Given the description of an element on the screen output the (x, y) to click on. 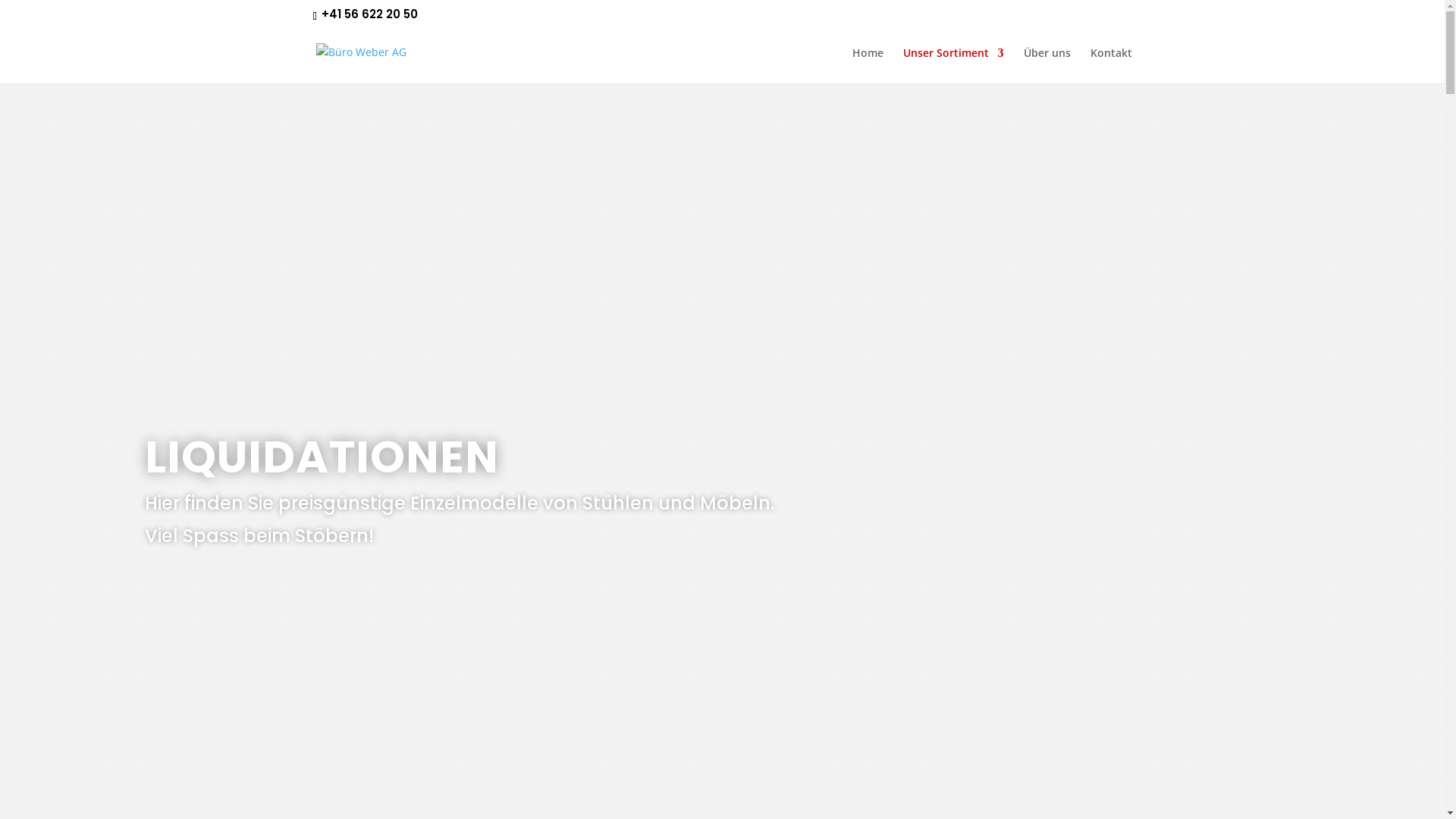
Unser Sortiment Element type: text (952, 65)
Home Element type: text (867, 65)
Kontakt Element type: text (1111, 65)
